Given the description of an element on the screen output the (x, y) to click on. 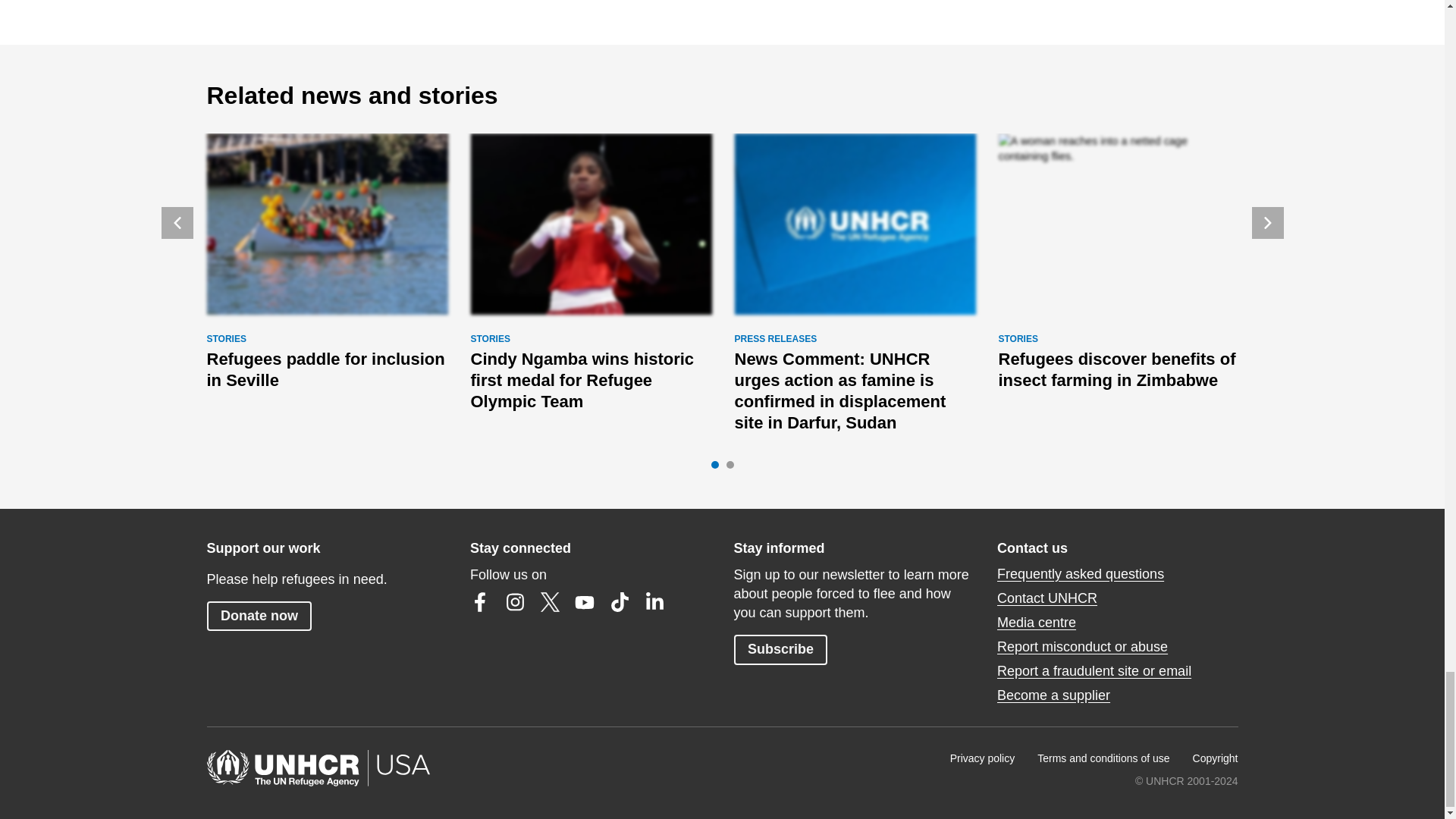
UNHCR logo (854, 223)
